Given the description of an element on the screen output the (x, y) to click on. 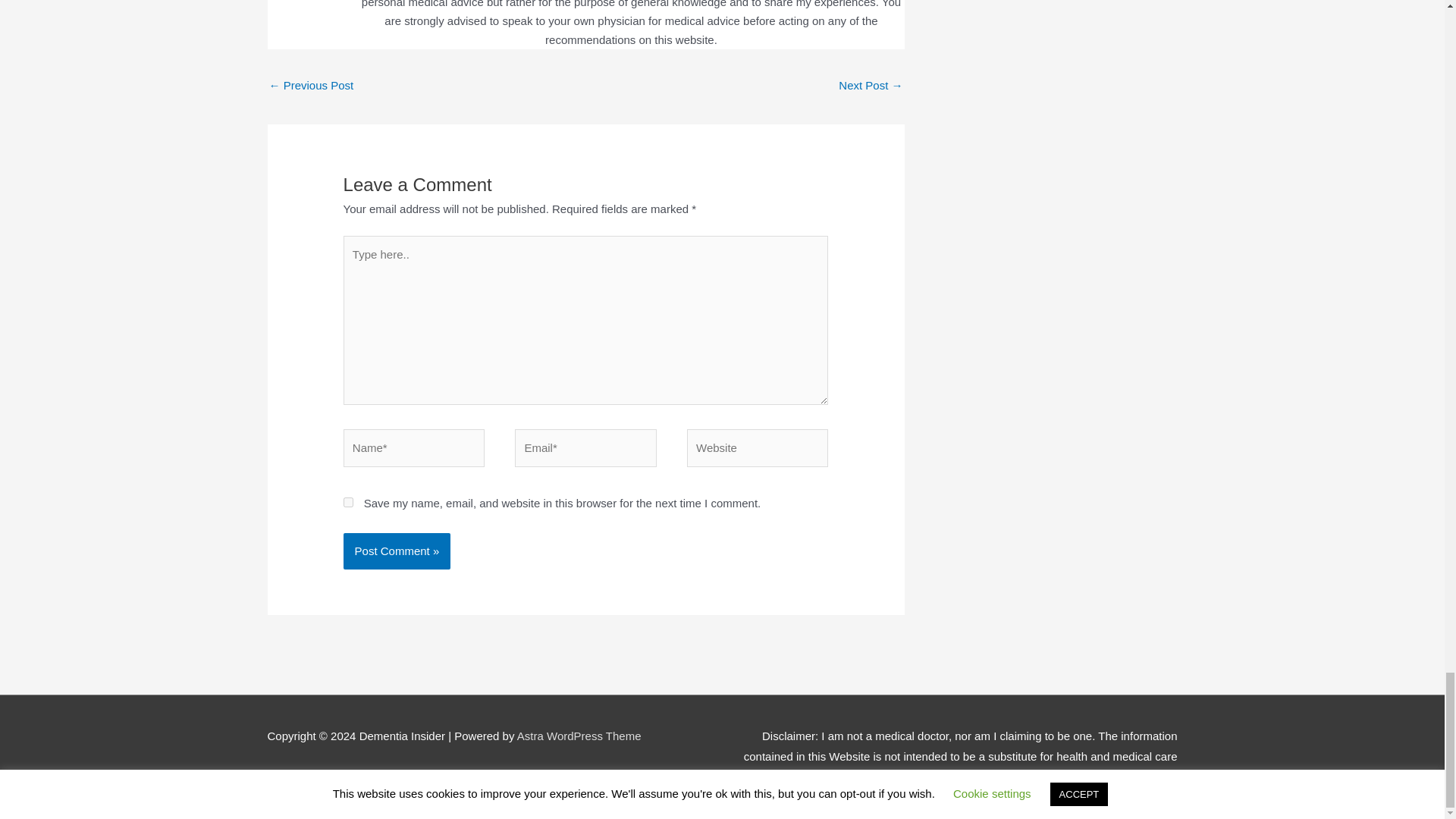
The Stigma of Dementia and Alzheimer's Disease (870, 86)
yes (348, 501)
Astra WordPress Theme (579, 735)
Best Busy Boards for Dementia Patients (310, 86)
